Given the description of an element on the screen output the (x, y) to click on. 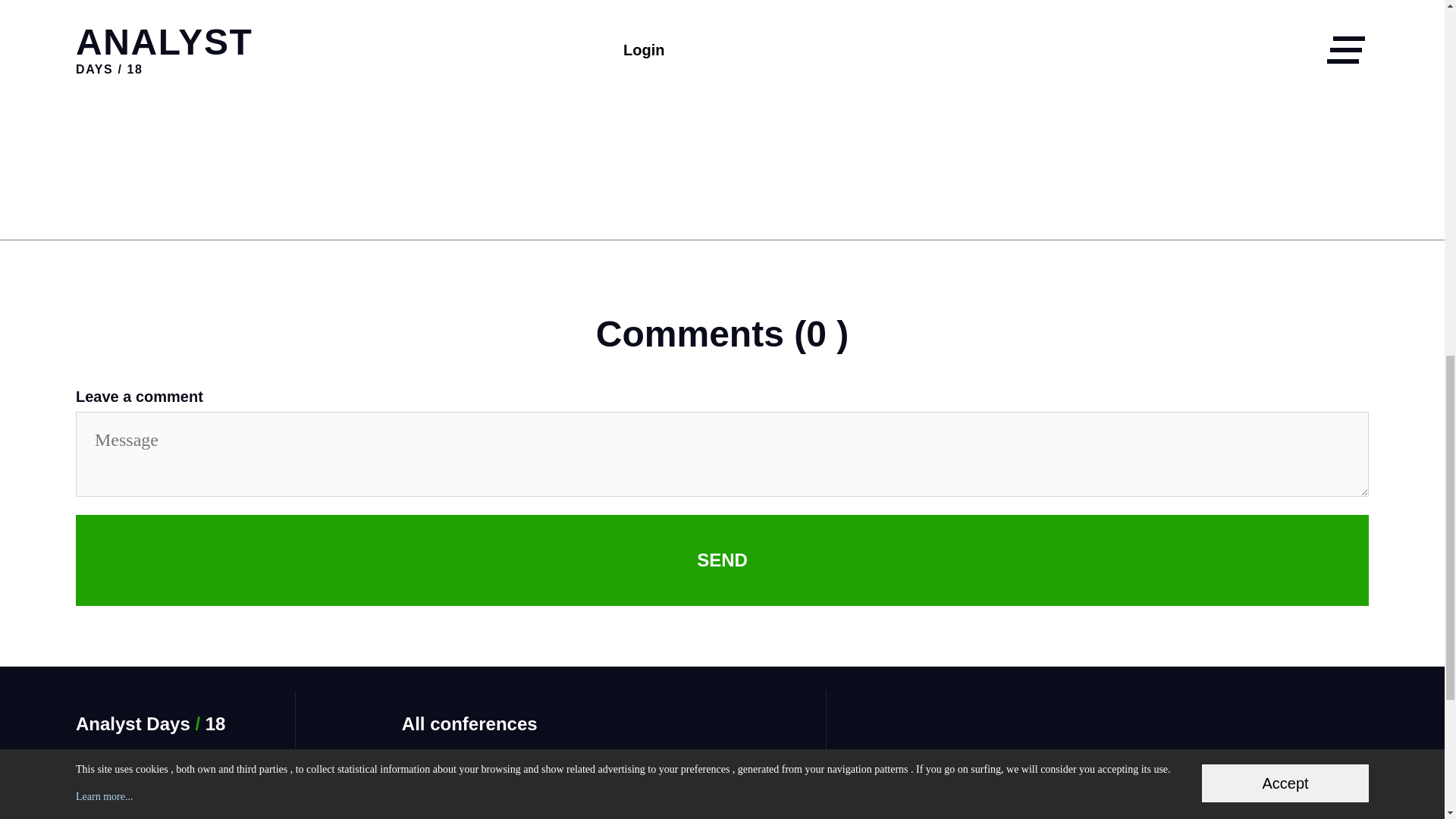
SEND (721, 560)
